Given the description of an element on the screen output the (x, y) to click on. 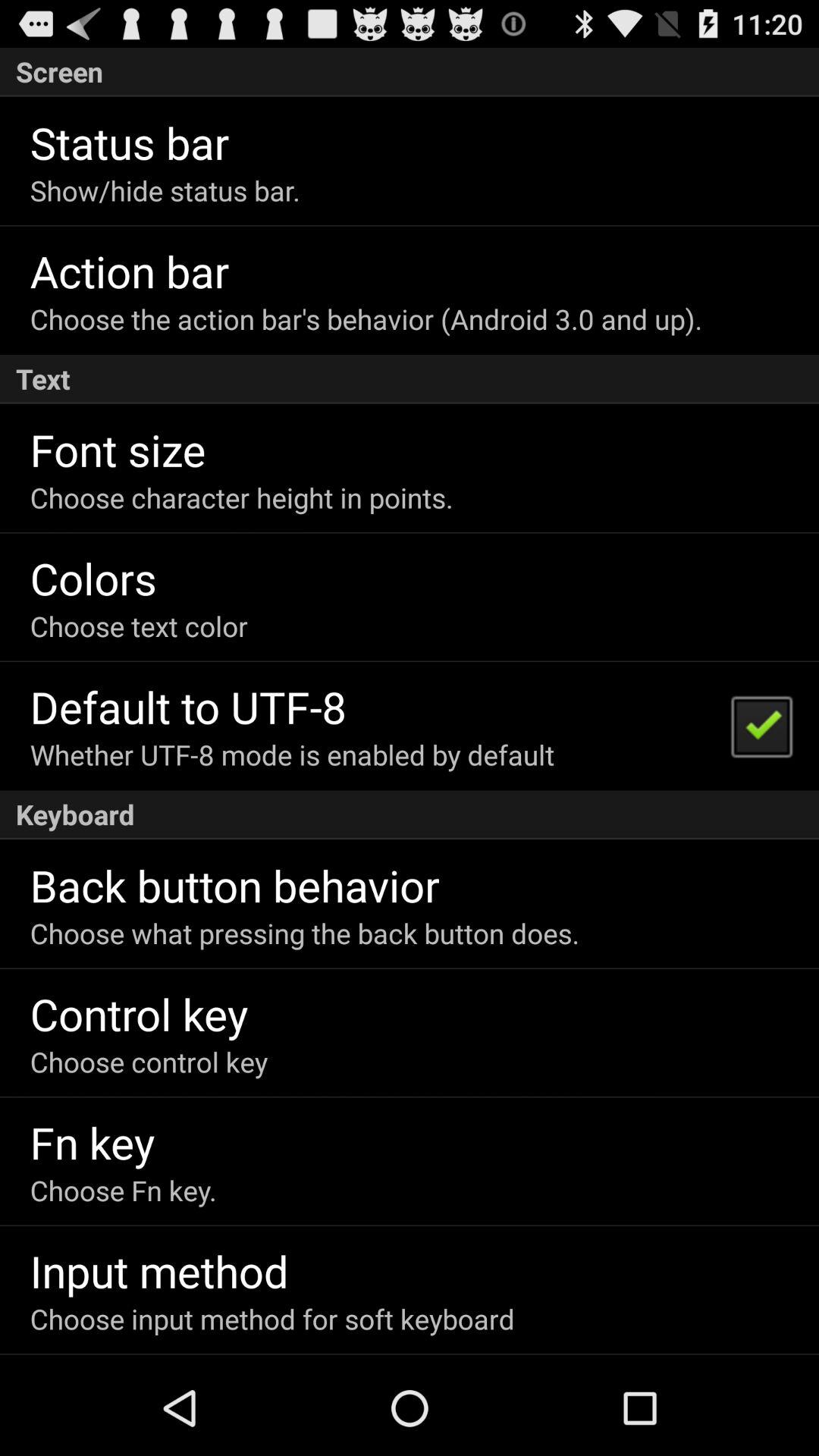
click the item above keyboard icon (761, 725)
